Given the description of an element on the screen output the (x, y) to click on. 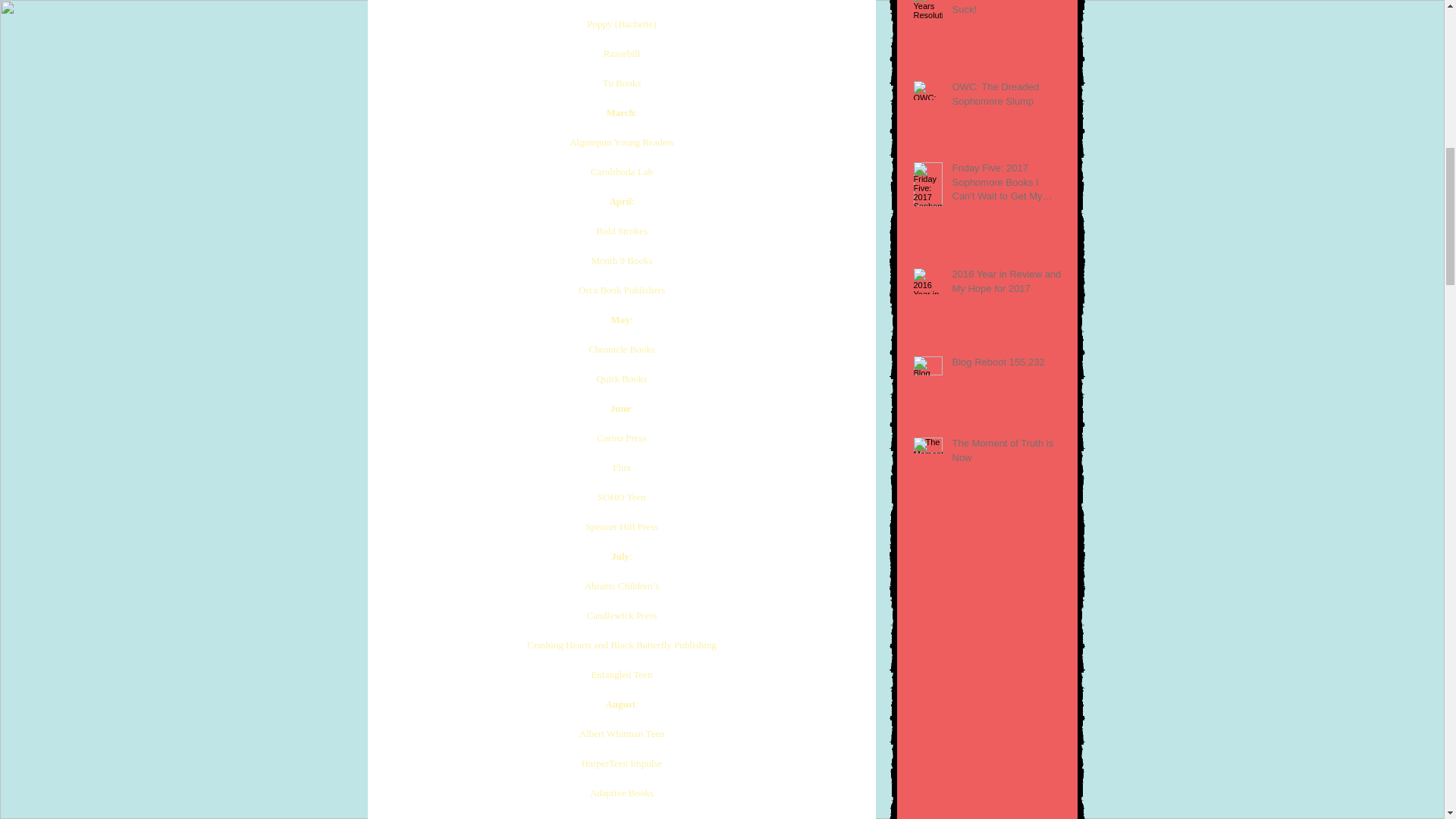
Blog Reboot 155.232 (1006, 365)
OWC: The Dreaded Sophomore Slump (1006, 96)
New Years Resolutions Suck! (1006, 11)
The Moment of Truth is Now (1006, 453)
2016 Year in Review and My Hope for 2017 (1006, 284)
